Given the description of an element on the screen output the (x, y) to click on. 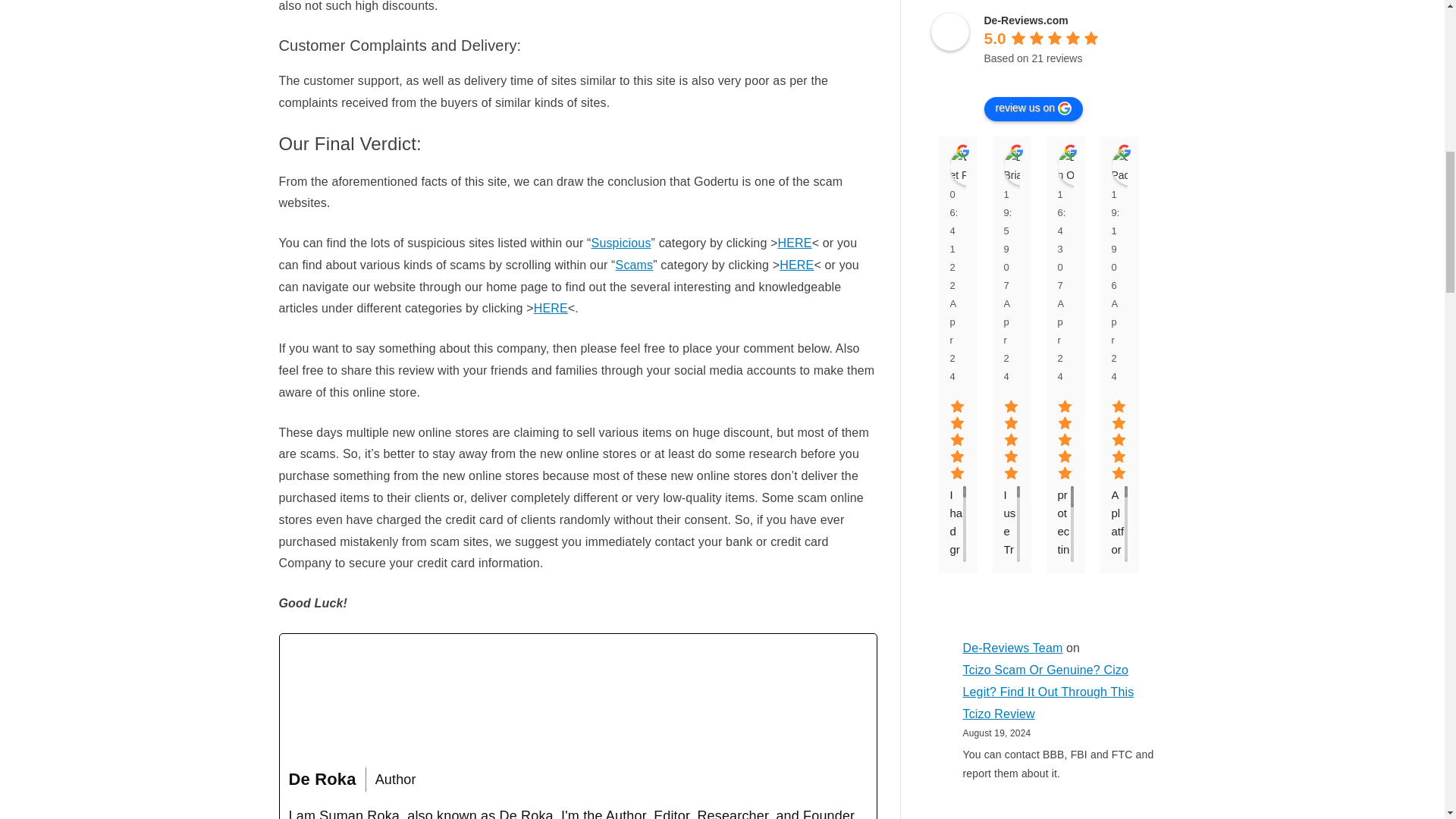
Suspicious (620, 242)
De-Reviews.com (950, 31)
HERE (794, 242)
powered by Google (1038, 77)
Velvet Frost (968, 166)
Lin Brian (1023, 166)
Chris Paddon (1131, 166)
Edwin Ortiz (1075, 166)
